Given the description of an element on the screen output the (x, y) to click on. 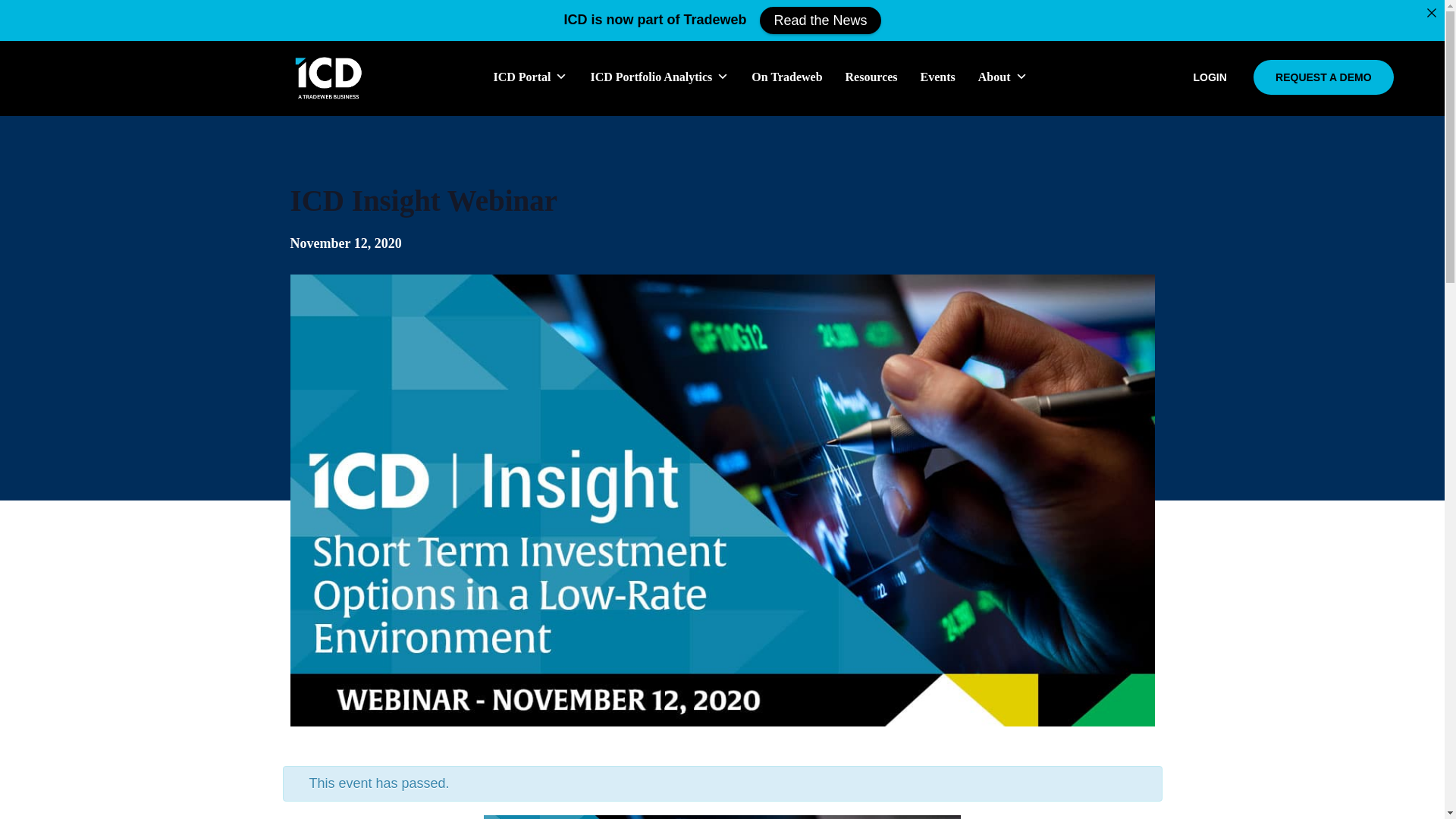
On Tradeweb (786, 77)
ICD Portfolio Analytics (659, 77)
LOGIN (1208, 77)
About (1002, 77)
ICD Portal (530, 77)
REQUEST A DEMO (1323, 77)
Events (937, 77)
Resources (871, 77)
